Given the description of an element on the screen output the (x, y) to click on. 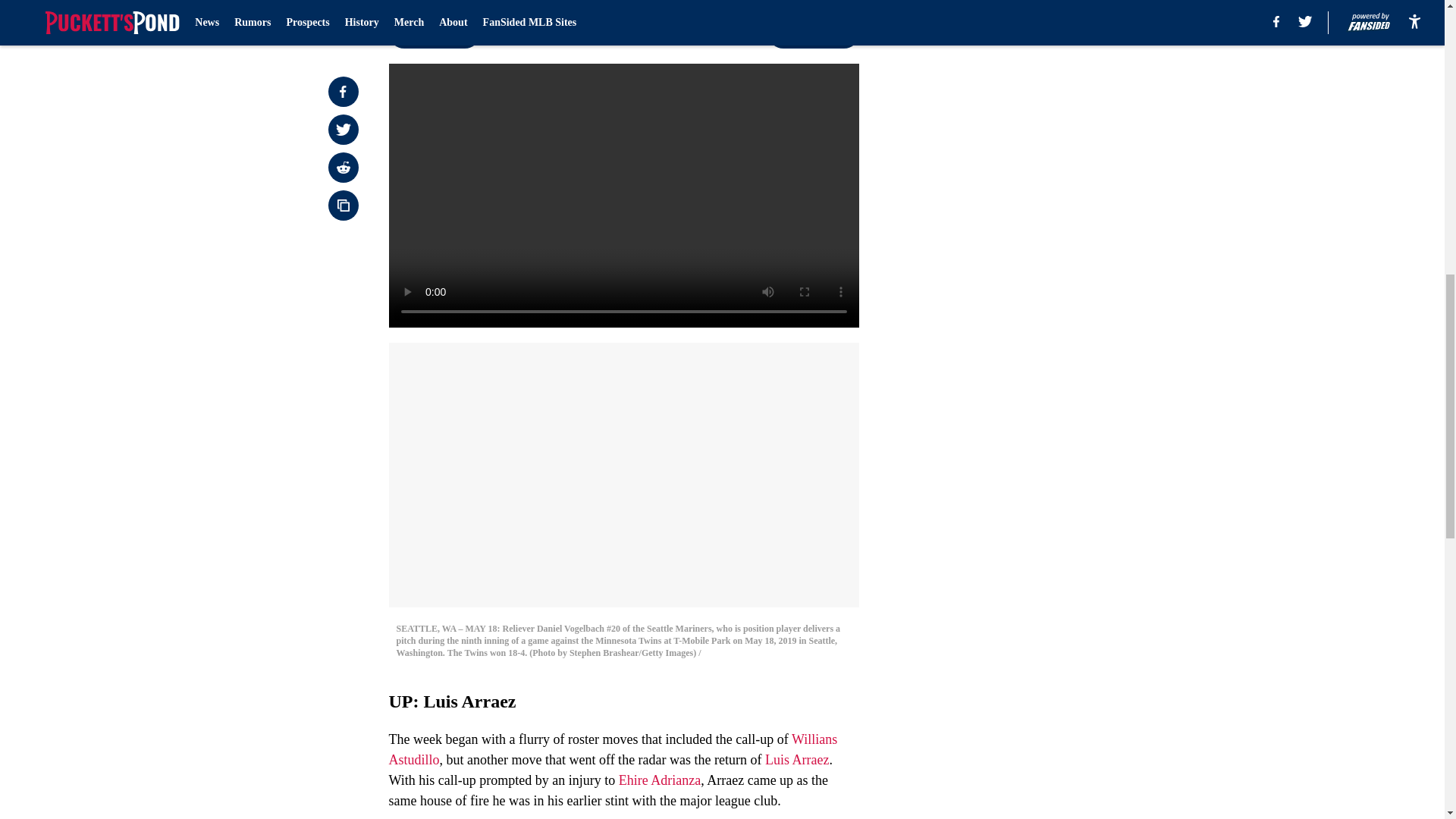
3rd party ad content (1047, 113)
Prev (433, 33)
Next (813, 33)
3rd party ad content (1047, 332)
Ehire Adrianza (659, 780)
Luis Arraez (796, 759)
Willians Astudillo (612, 749)
